Given the description of an element on the screen output the (x, y) to click on. 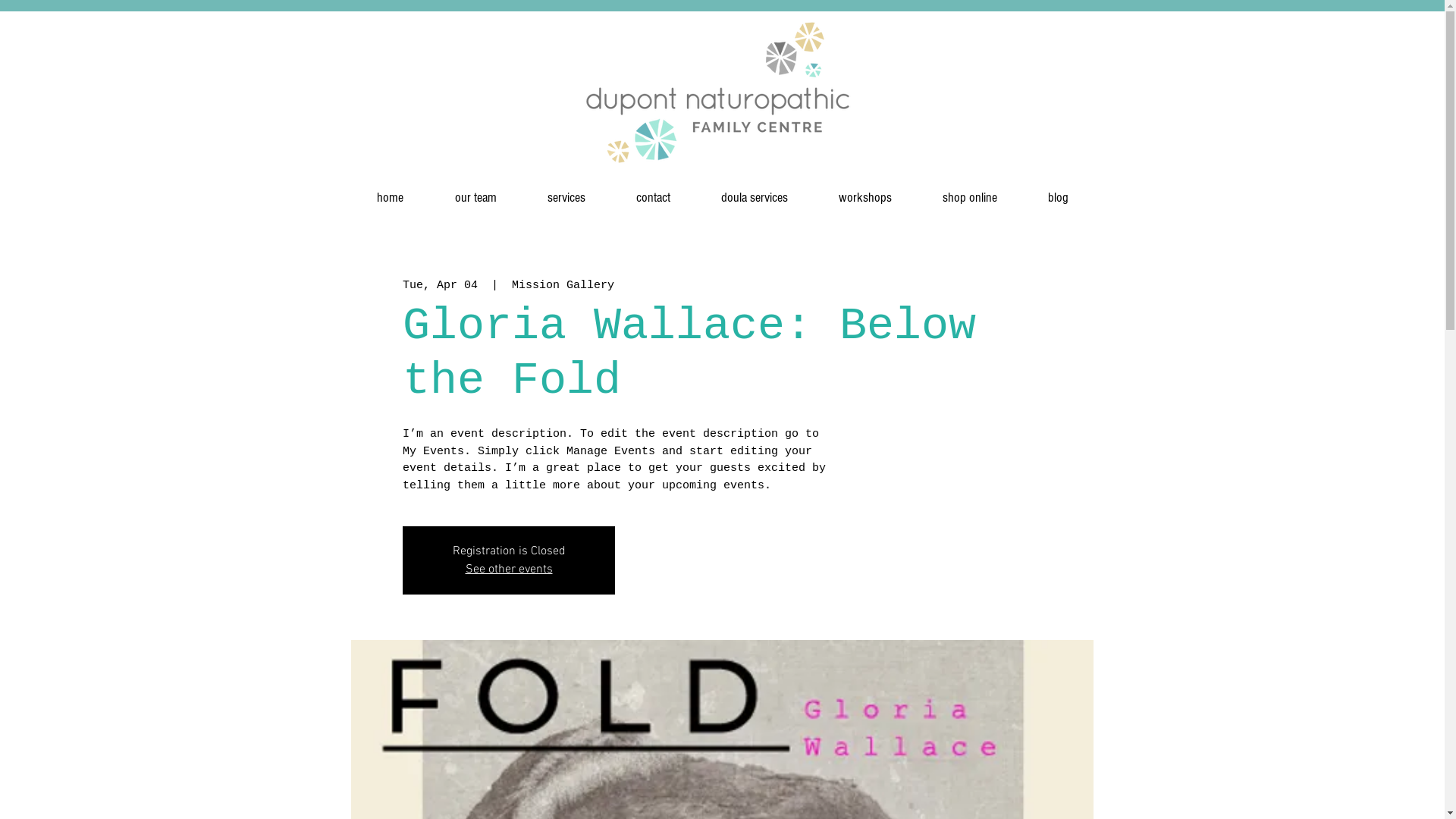
services Element type: text (565, 190)
blog Element type: text (1057, 190)
See other events Element type: text (508, 569)
doula services Element type: text (754, 190)
our team Element type: text (475, 190)
workshops Element type: text (864, 190)
home Element type: text (389, 190)
contact Element type: text (653, 190)
shop online Element type: text (969, 190)
